Given the description of an element on the screen output the (x, y) to click on. 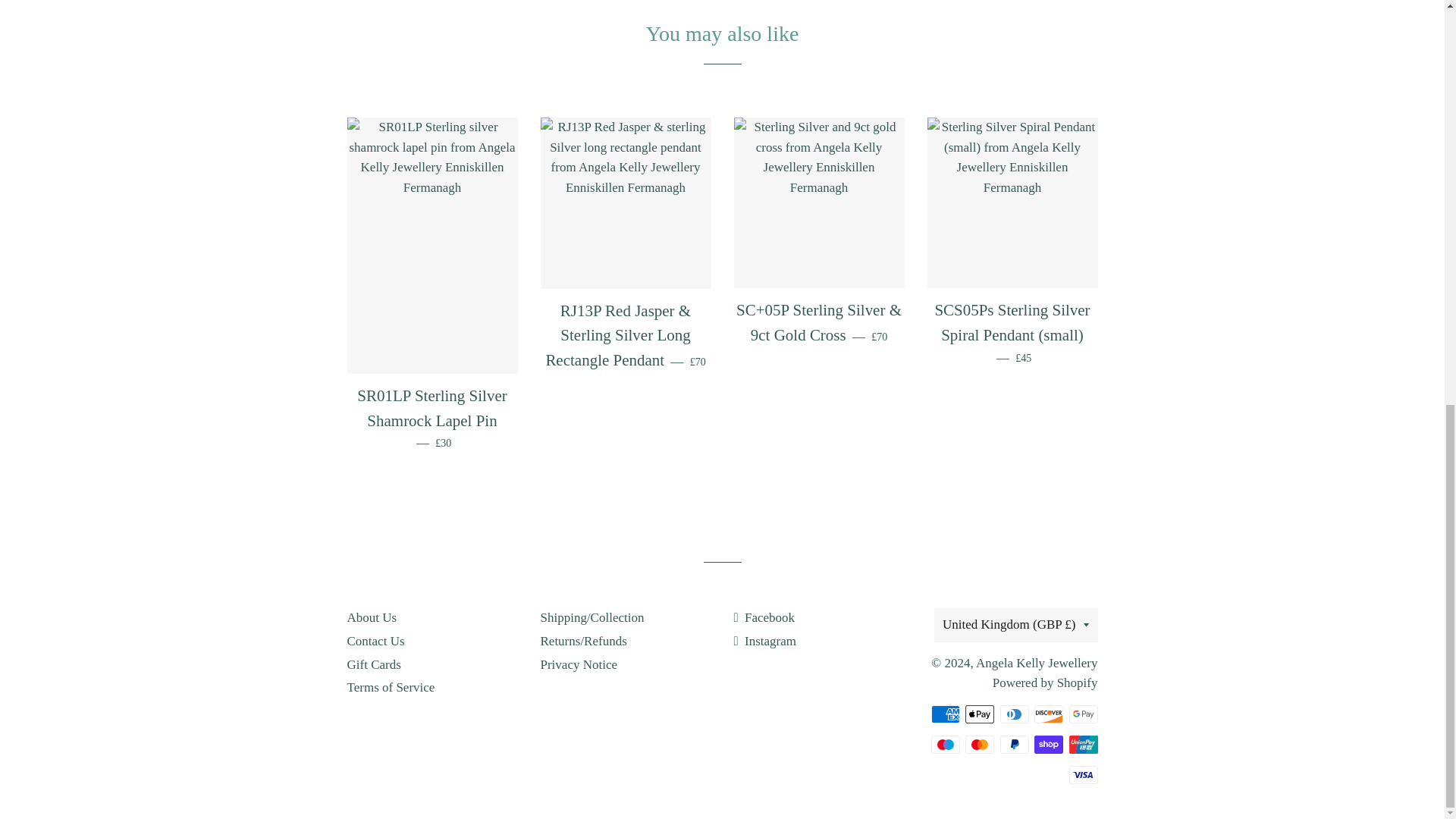
Maestro (945, 744)
Discover (1047, 714)
Angela Kelly Jewellery on Facebook (763, 617)
Google Pay (1082, 714)
American Express (945, 714)
PayPal (1012, 744)
Visa (1082, 774)
Apple Pay (979, 714)
Mastercard (979, 744)
Union Pay (1082, 744)
Angela Kelly Jewellery on Instagram (764, 640)
Diners Club (1012, 714)
Shop Pay (1047, 744)
